Given the description of an element on the screen output the (x, y) to click on. 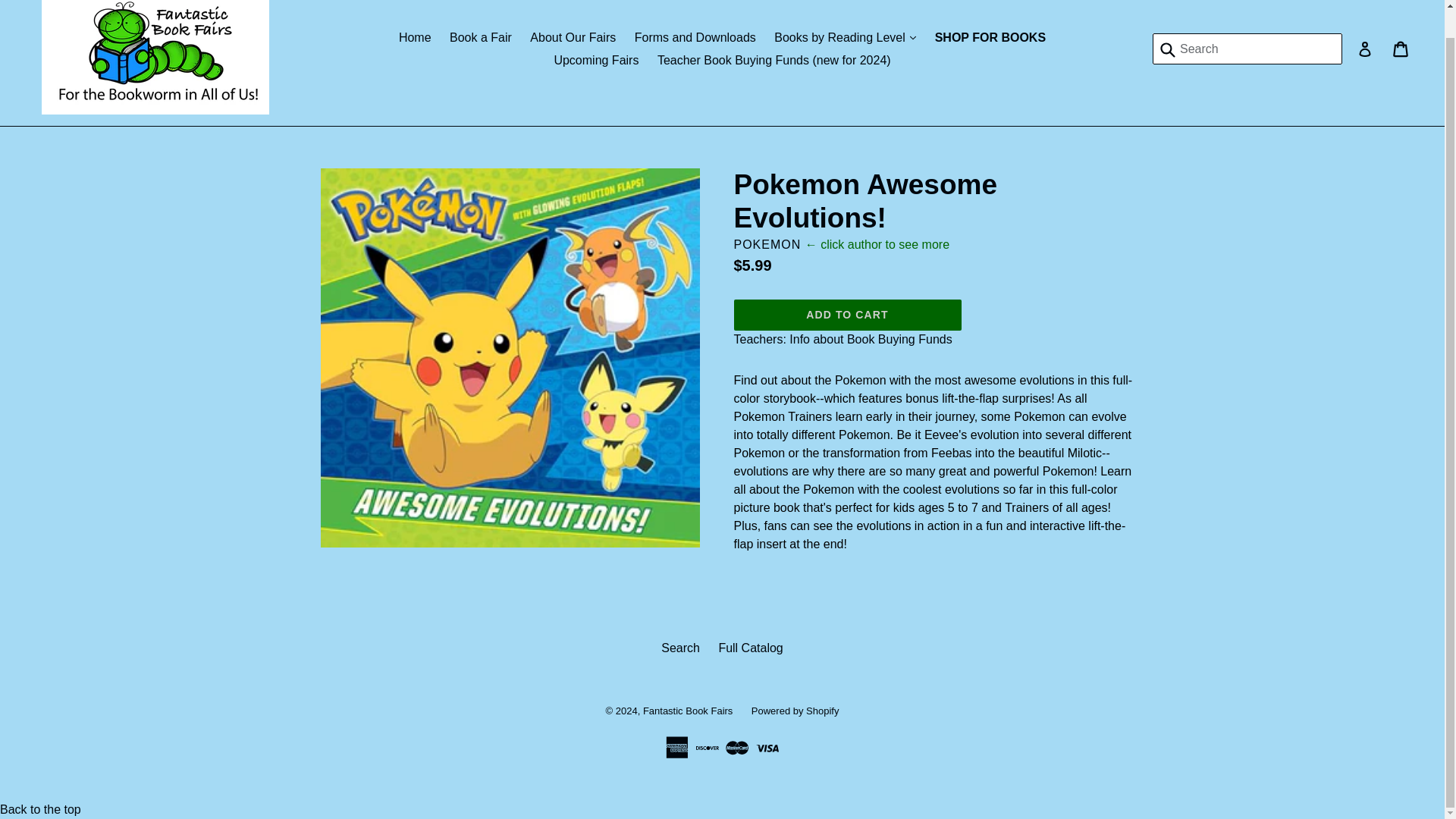
Upcoming Fairs (596, 60)
Pokemon (767, 244)
Forms and Downloads (694, 37)
About Our Fairs (572, 37)
Home (415, 37)
Back to the top (40, 809)
SHOP FOR BOOKS (989, 37)
Book a Fair (480, 37)
